Given the description of an element on the screen output the (x, y) to click on. 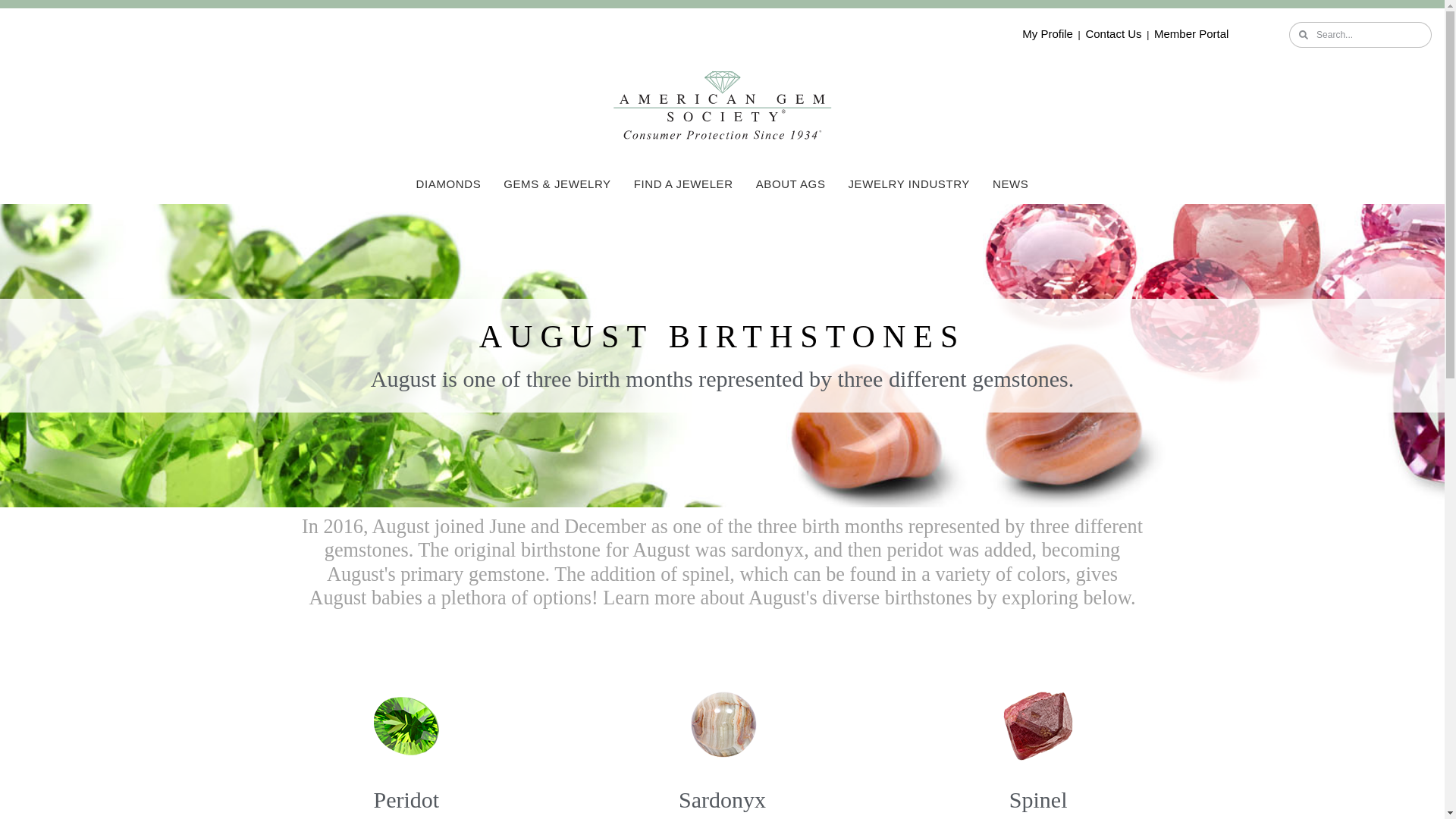
Member Portal (1191, 33)
Contact Us (1112, 33)
DIAMONDS (448, 183)
My Profile (1047, 33)
